Given the description of an element on the screen output the (x, y) to click on. 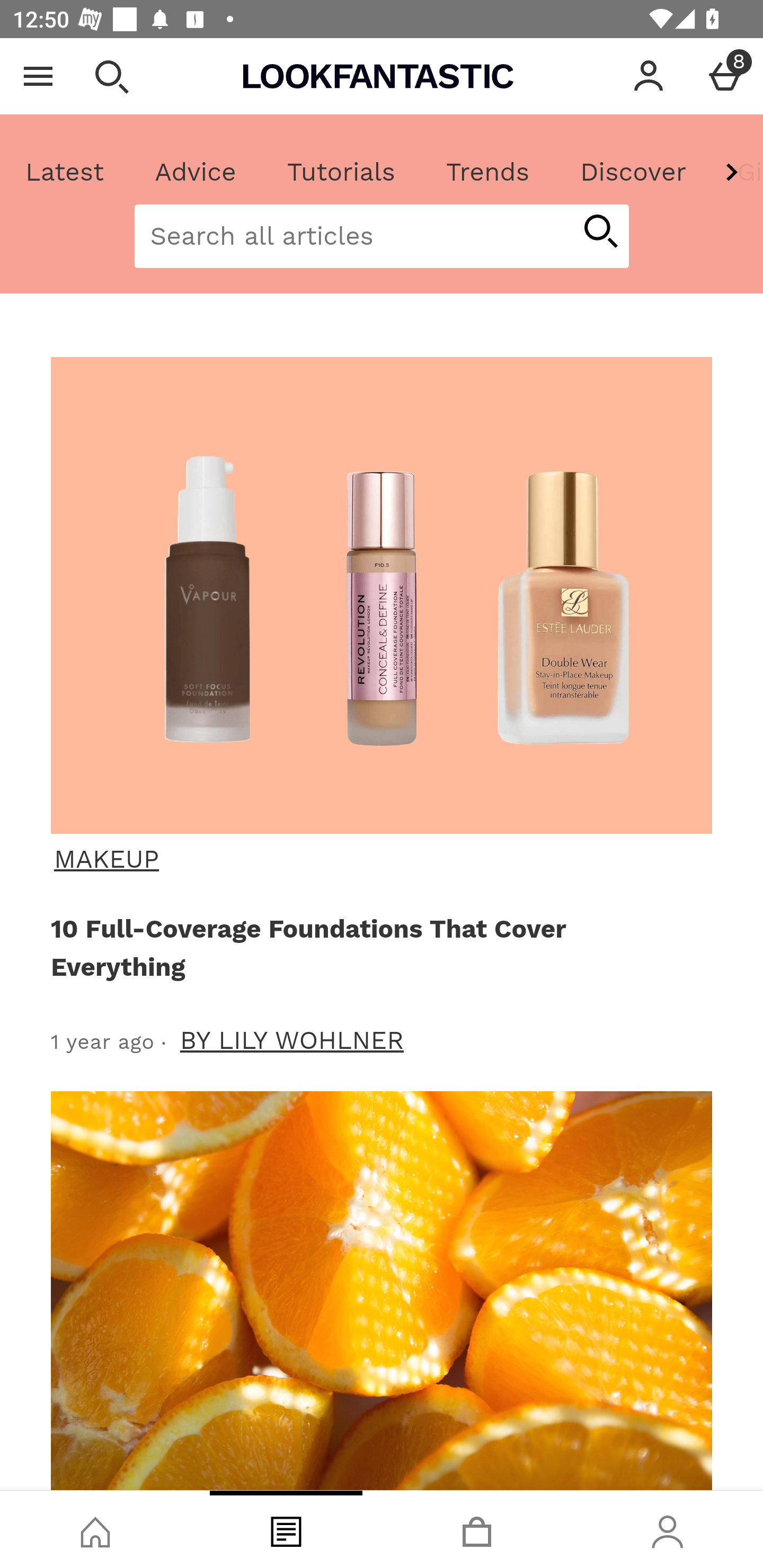
Open Menu (38, 75)
Open search (111, 75)
Account (648, 75)
Basket Menu (724, 75)
Lookfantastic USA Home page (378, 76)
Latest (65, 172)
Advice (195, 172)
Tutorials (340, 172)
Trends (486, 172)
Discover (632, 172)
Gift Guide (736, 172)
start article search (599, 232)
MAKEUP (379, 858)
10 Full-Coverage Foundations That Cover Everything (377, 947)
BY LILY WOHLNER (292, 1040)
Shop, tab, 1 of 4 (95, 1529)
Blog, tab, 2 of 4 (285, 1529)
Basket, tab, 3 of 4 (476, 1529)
Account, tab, 4 of 4 (667, 1529)
